Given the description of an element on the screen output the (x, y) to click on. 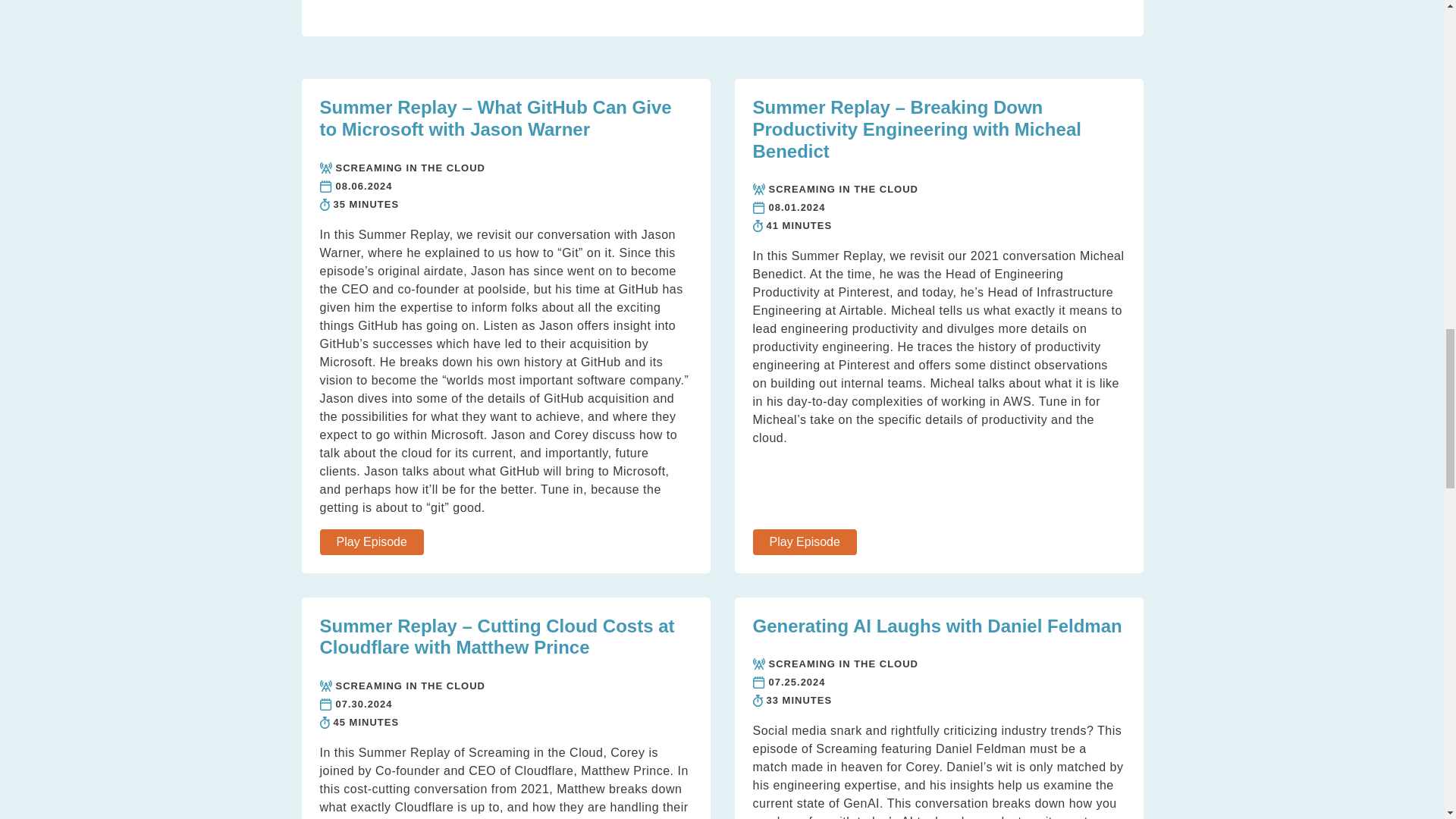
Play Episode (804, 542)
Play Episode (371, 542)
Generating AI Laughs with Daniel Feldman (936, 625)
